Given the description of an element on the screen output the (x, y) to click on. 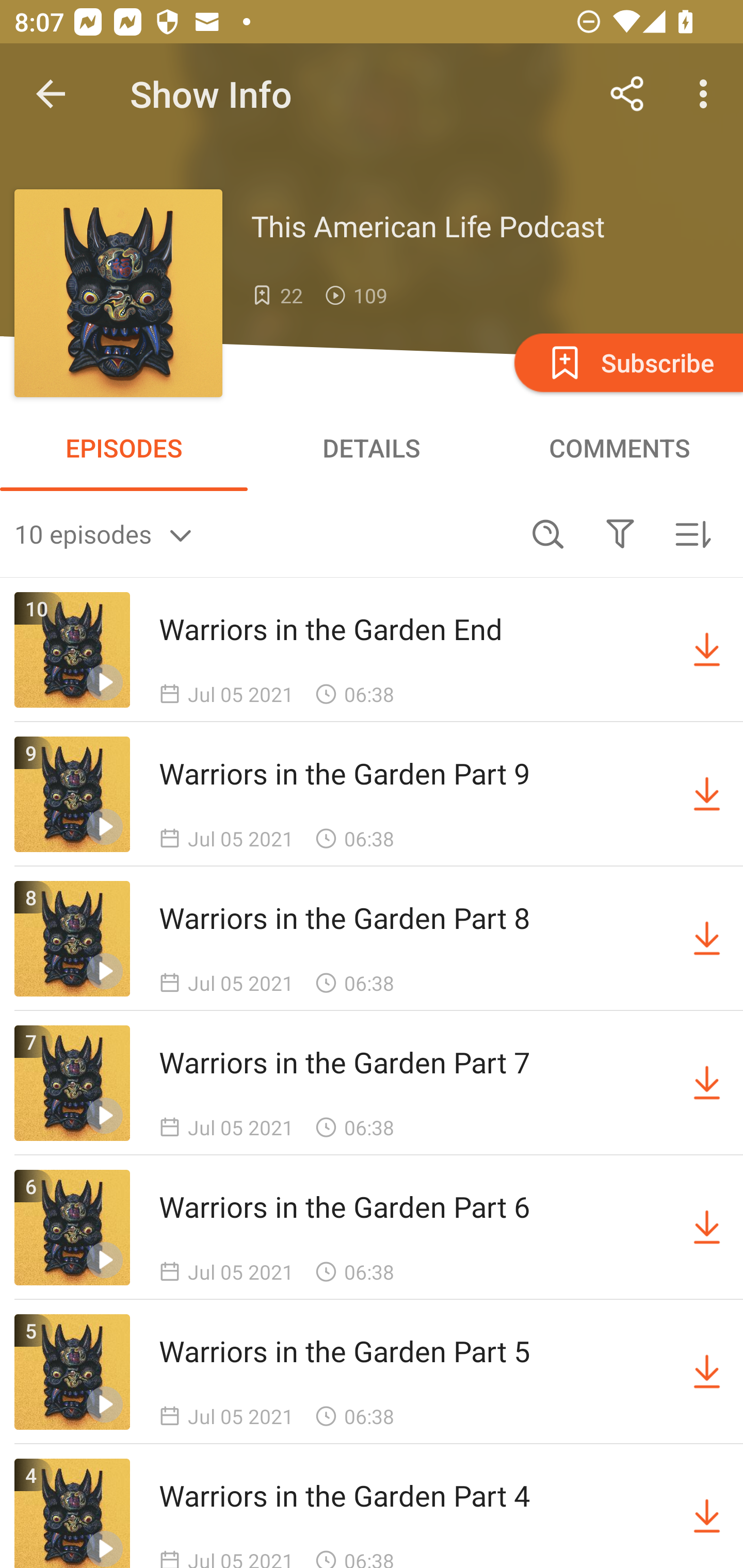
Navigate up (50, 93)
Share (626, 93)
More options (706, 93)
Subscribe (627, 361)
EPISODES (123, 447)
DETAILS (371, 447)
COMMENTS (619, 447)
10 episodes  (262, 533)
 Search (547, 533)
 (619, 533)
 Sorted by newest first (692, 533)
Download (706, 649)
Download (706, 793)
Download (706, 939)
Download (706, 1083)
Download (706, 1227)
Download (706, 1371)
Download (706, 1513)
